Given the description of an element on the screen output the (x, y) to click on. 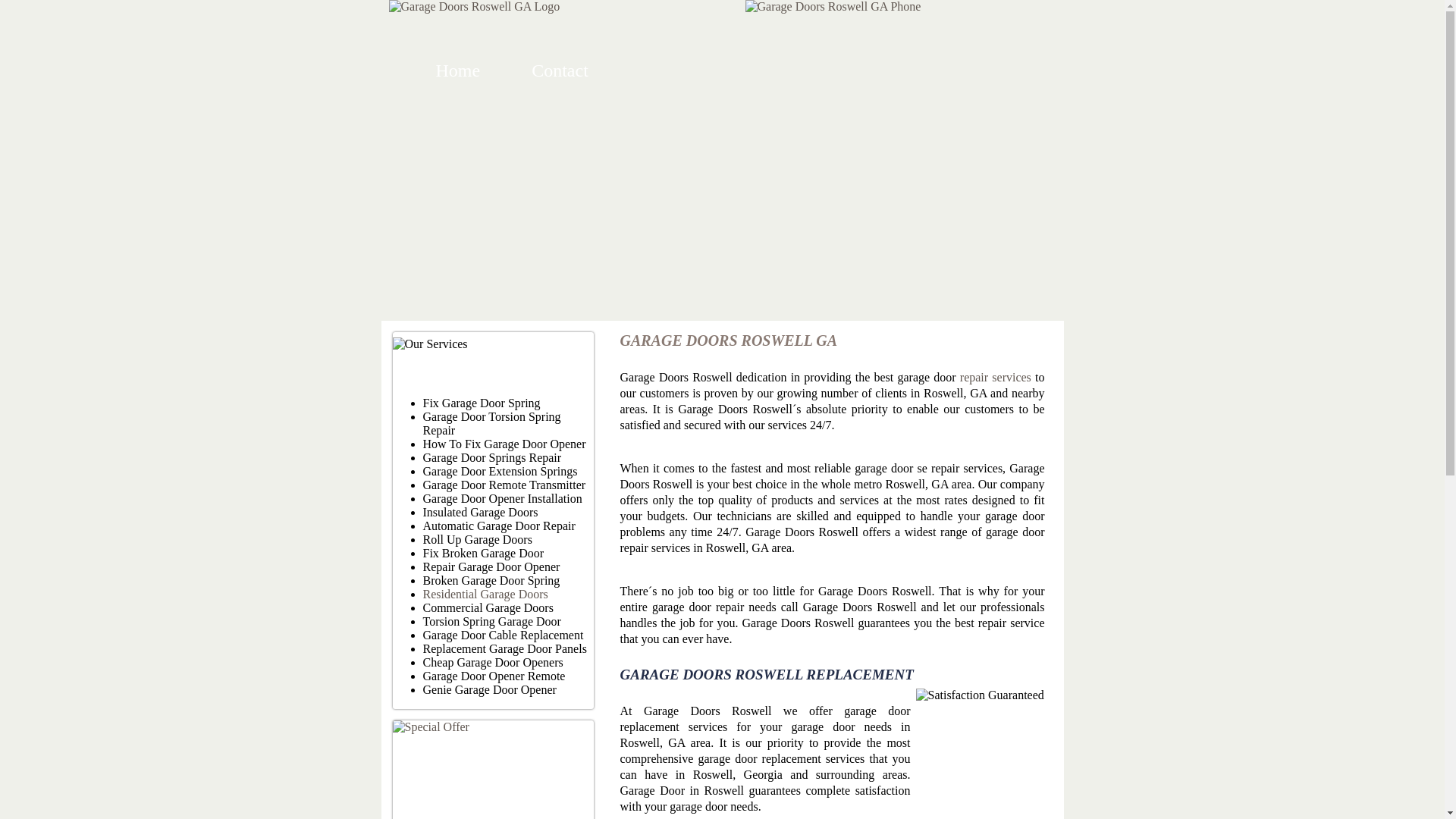
Contact (559, 70)
Residential Garage Doors (485, 594)
repair services (994, 377)
Home (457, 70)
